Given the description of an element on the screen output the (x, y) to click on. 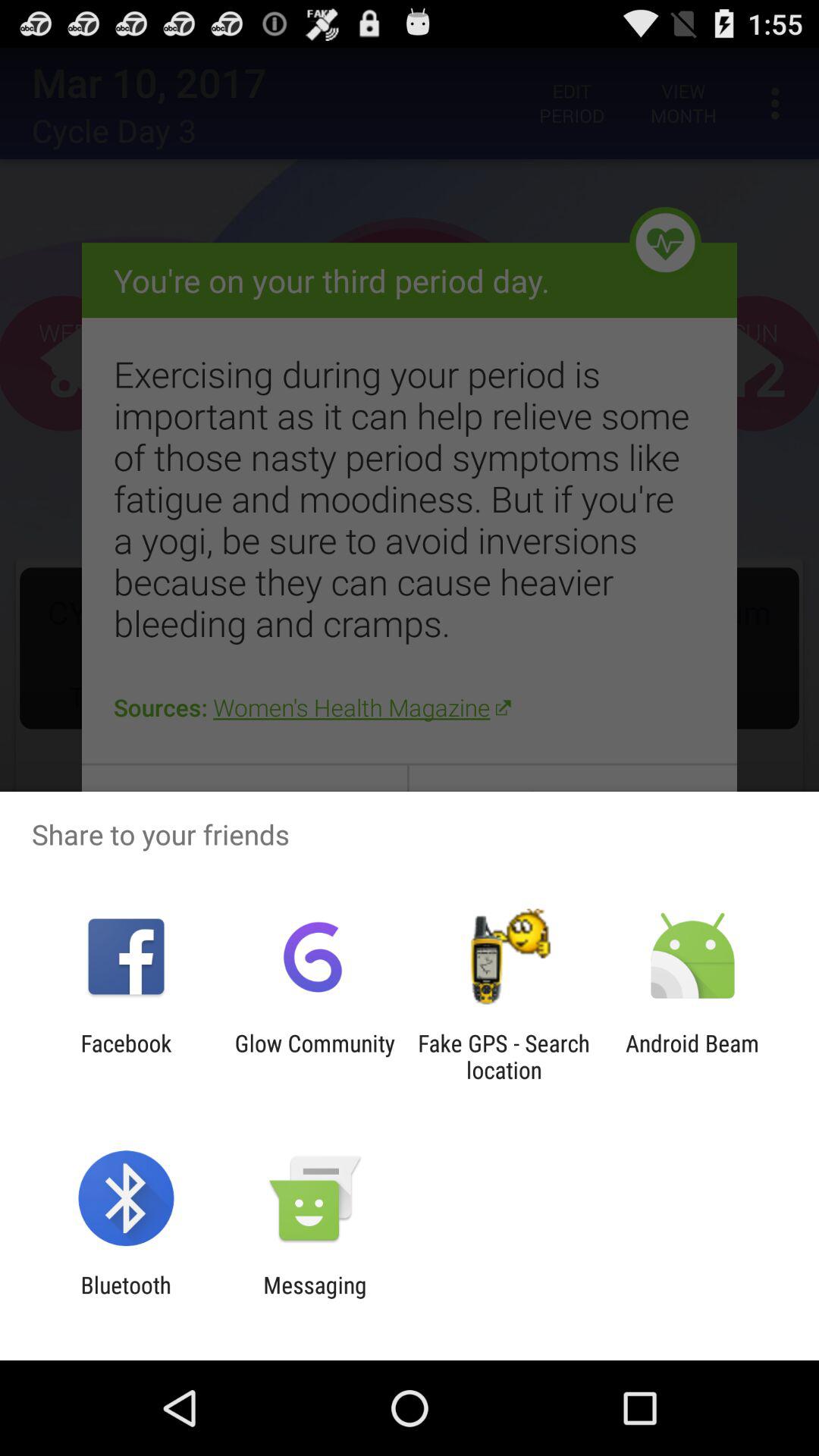
launch item to the left of android beam icon (503, 1056)
